Given the description of an element on the screen output the (x, y) to click on. 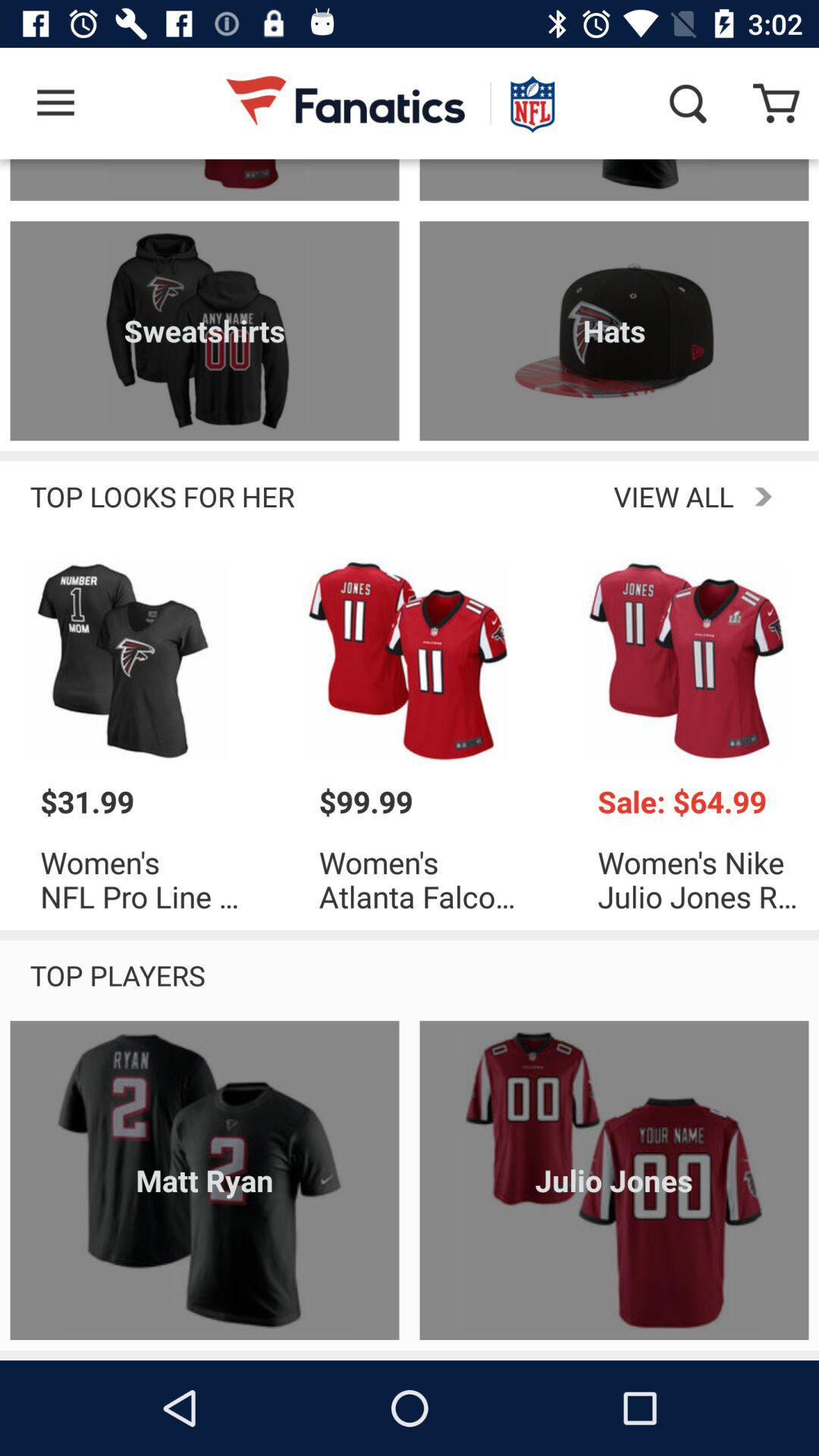
open the item next to the top looks for icon (551, 496)
